Given the description of an element on the screen output the (x, y) to click on. 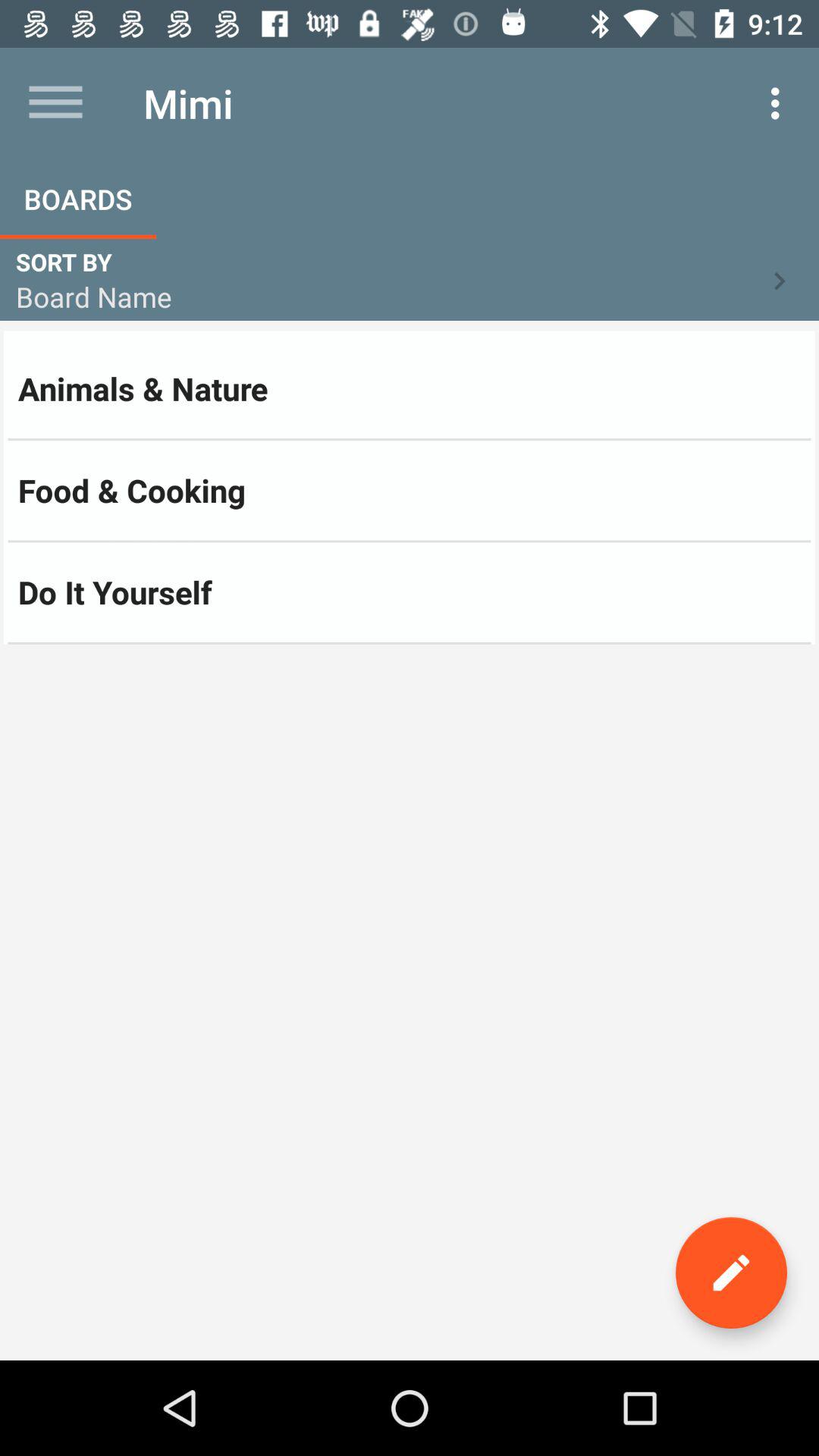
more options (55, 103)
